Given the description of an element on the screen output the (x, y) to click on. 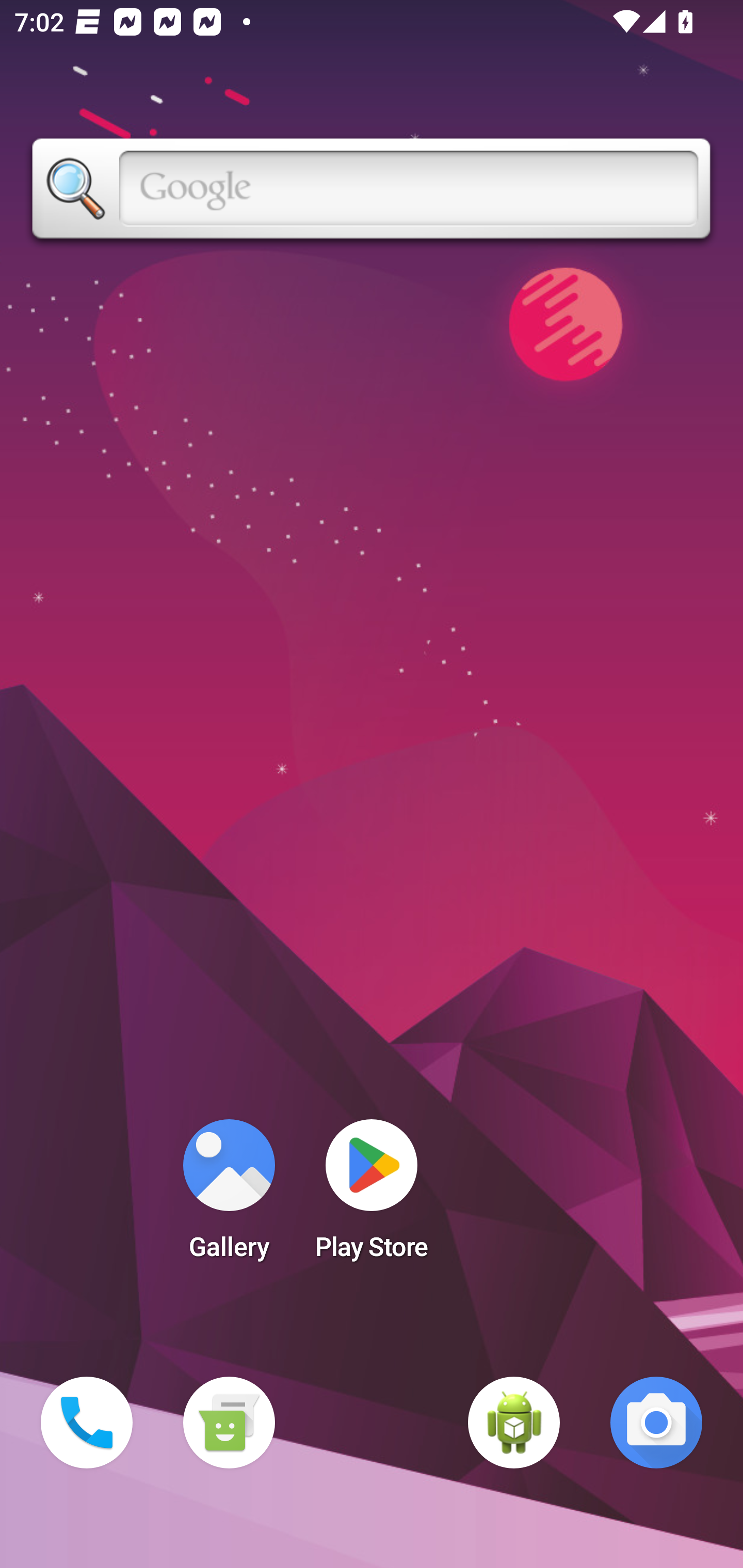
Gallery (228, 1195)
Play Store (371, 1195)
Phone (86, 1422)
Messaging (228, 1422)
WebView Browser Tester (513, 1422)
Camera (656, 1422)
